Given the description of an element on the screen output the (x, y) to click on. 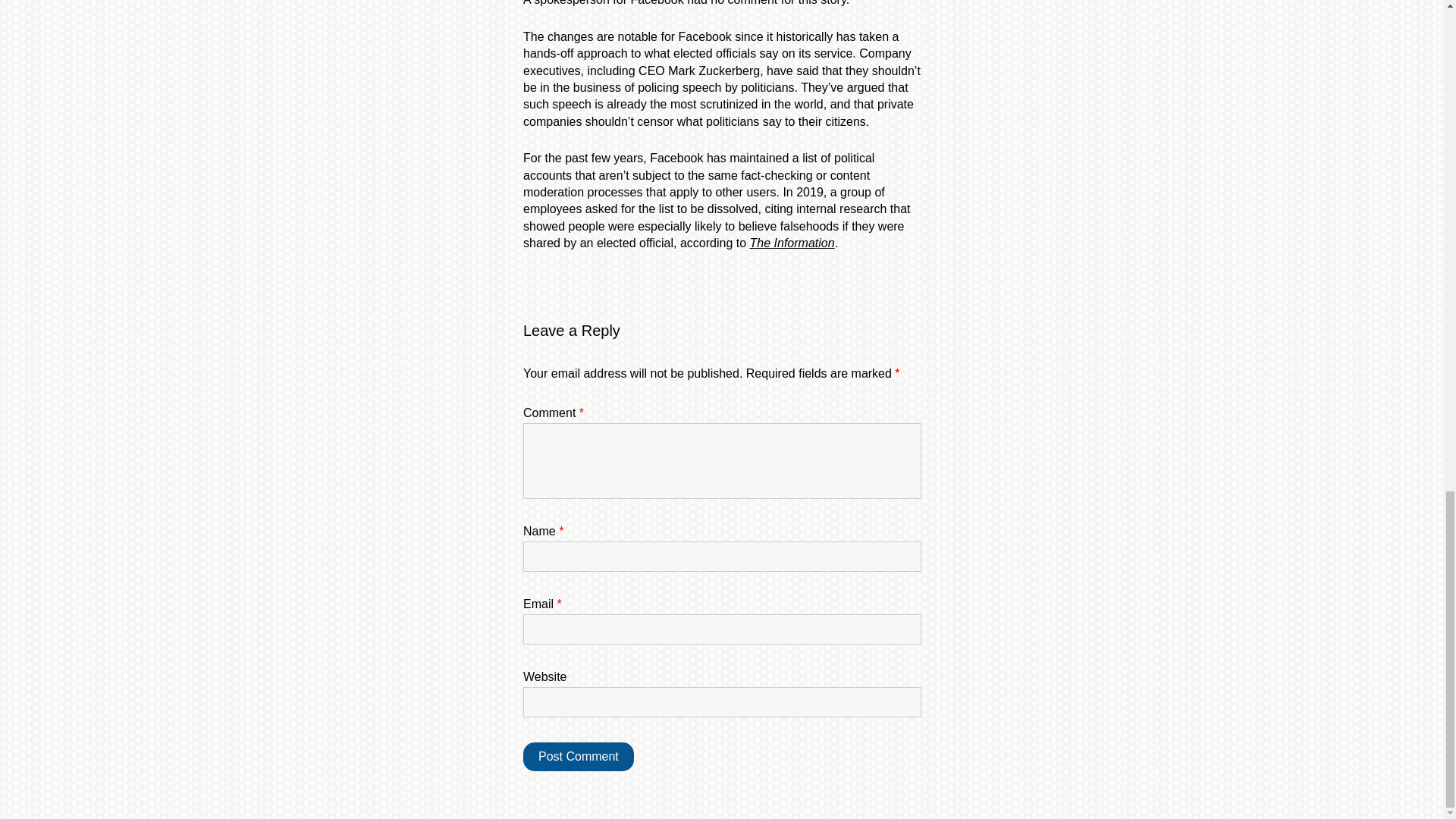
Post Comment (577, 756)
Post Comment (577, 756)
The Information (791, 242)
